Given the description of an element on the screen output the (x, y) to click on. 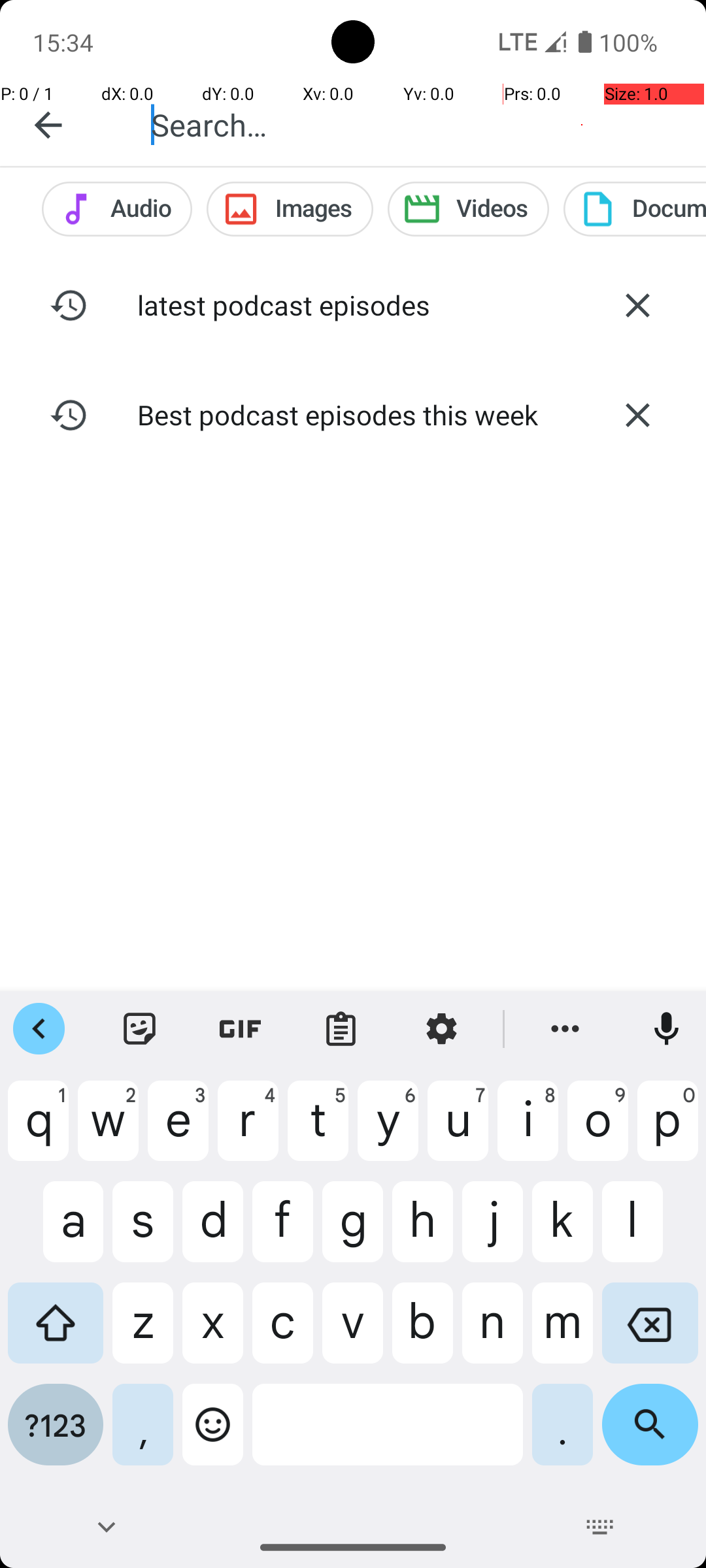
latest podcast episodes Element type: android.widget.TextView (352, 304)
Delete search history latest podcast episodes Element type: android.widget.ImageView (637, 304)
Best podcast episodes this week Element type: android.widget.TextView (352, 414)
Delete search history Best podcast episodes this week Element type: android.widget.ImageView (637, 414)
